Given the description of an element on the screen output the (x, y) to click on. 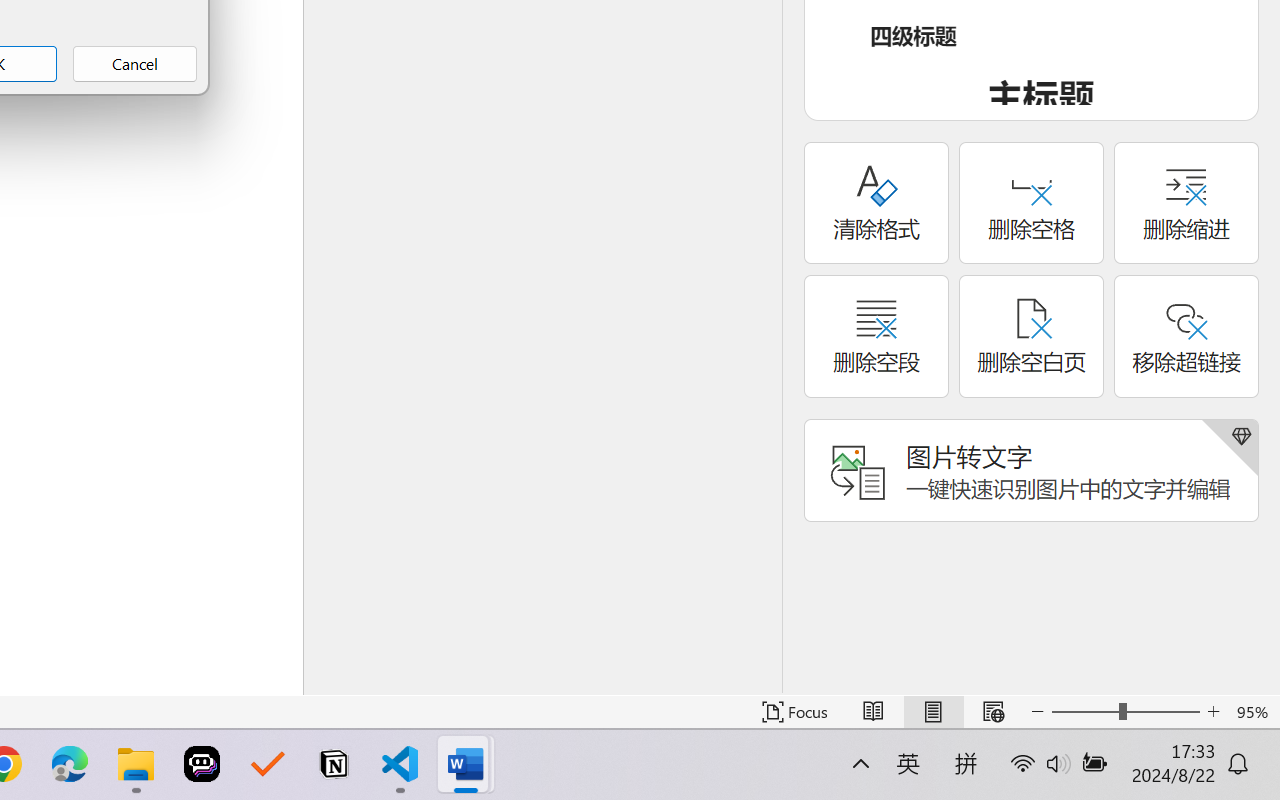
Microsoft Edge (69, 764)
